Given the description of an element on the screen output the (x, y) to click on. 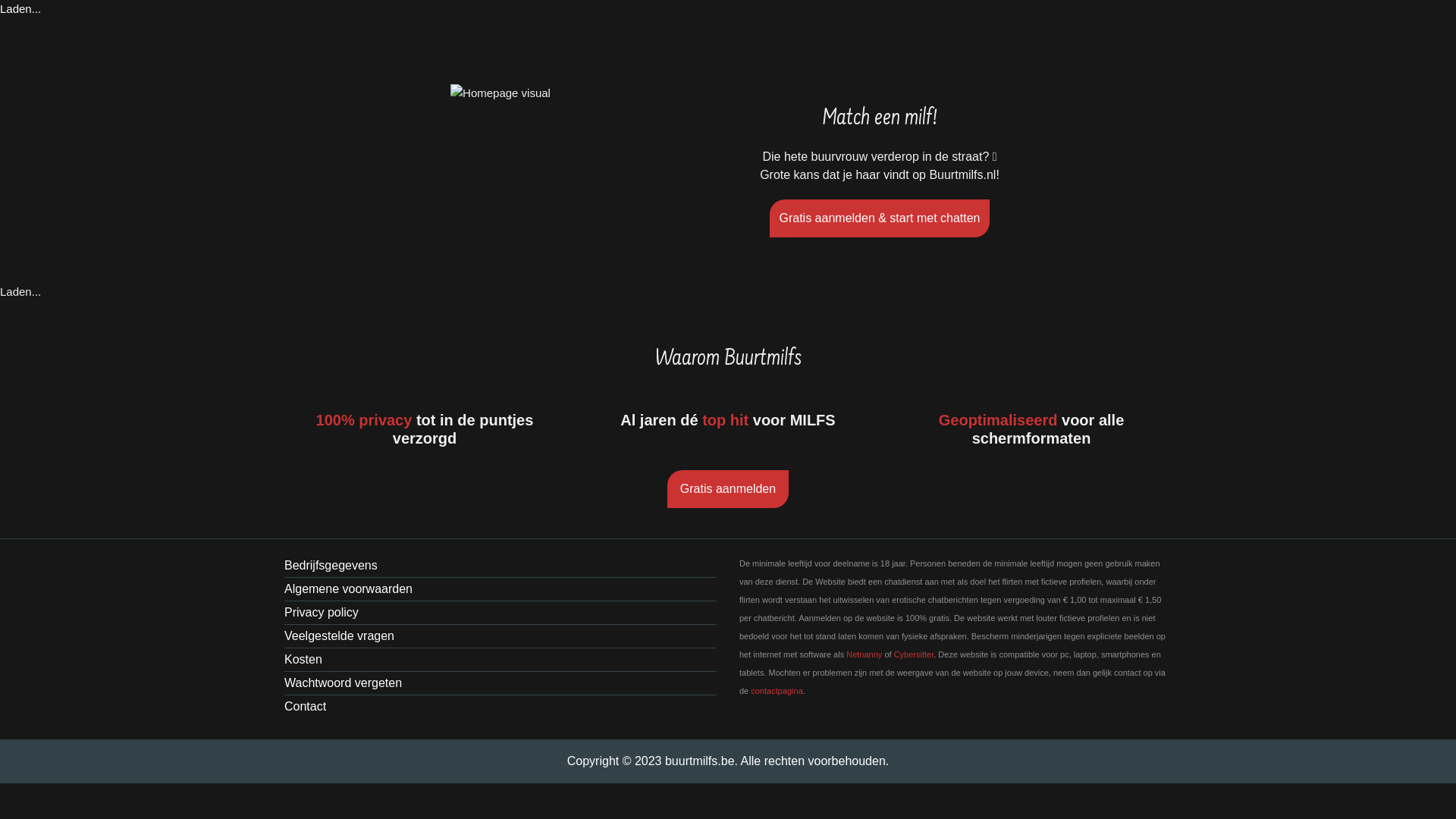
Contact Element type: text (500, 706)
Privacy policy Element type: text (500, 612)
contactpagina Element type: text (776, 690)
Veelgestelde vragen Element type: text (500, 636)
Algemene voorwaarden Element type: text (500, 589)
Gratis aanmelden Element type: text (727, 489)
Kosten Element type: text (500, 659)
Netnanny Element type: text (863, 653)
Gratis aanmelden & start met chatten Element type: text (878, 213)
Gratis aanmelden & start met chatten Element type: text (878, 218)
Cybersitter Element type: text (914, 653)
buurtmilfs.be Element type: text (699, 760)
Gratis aanmelden Element type: text (727, 483)
Bedrijfsgegevens Element type: text (500, 565)
Wachtwoord vergeten Element type: text (500, 683)
